Given the description of an element on the screen output the (x, y) to click on. 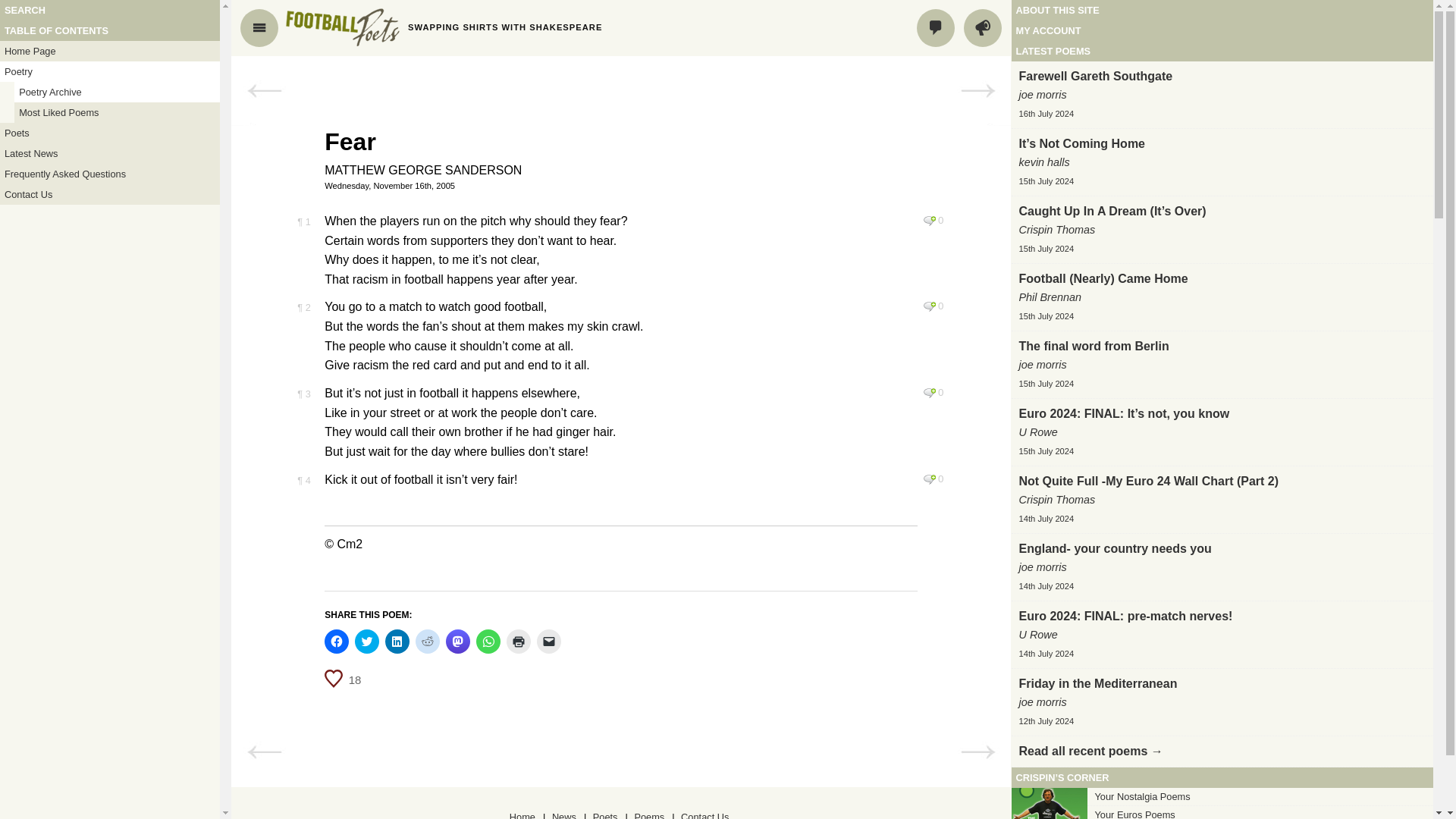
Click to share on LinkedIn (397, 641)
Home (341, 26)
Home Page (109, 50)
Leave a comment on verse 4 (929, 479)
Leave a comment on verse 3 (929, 392)
Poets (109, 132)
Poetry Archive (116, 91)
Leave a comment on verse 2 (929, 306)
Wednesday, November 16th, 2005 (620, 185)
Permalink for verse 4 (304, 480)
Leave a comment on verse 4 (929, 479)
Leave a comment on verse 3 (929, 392)
Contact Us (109, 194)
Click to share on Twitter (366, 641)
WC 2006 : JASON AND THE ERGO NORTHS (977, 752)
